Given the description of an element on the screen output the (x, y) to click on. 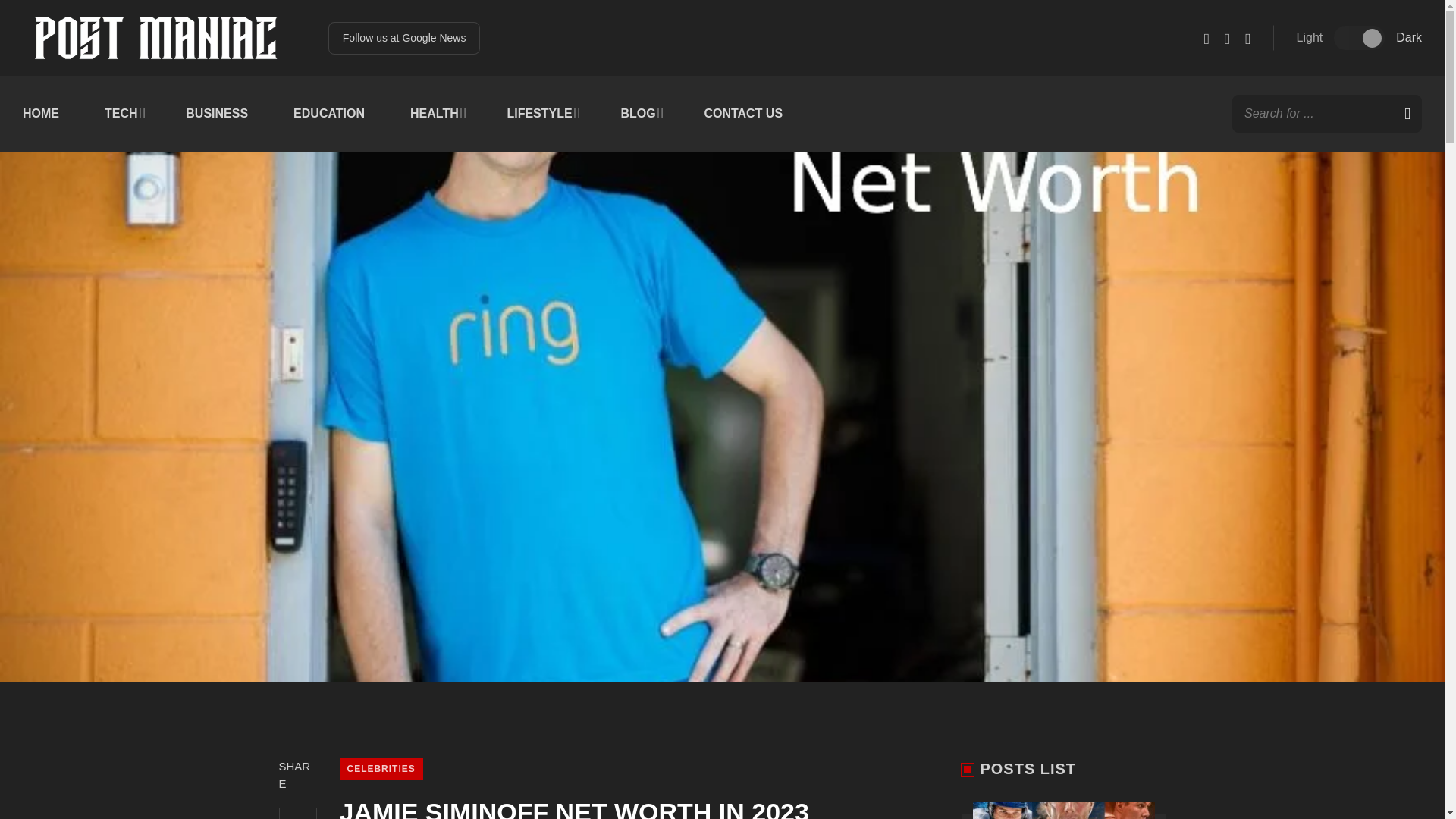
Follow us at Google News (404, 37)
LIFESTYLE (540, 113)
EDUCATION (329, 113)
CELEBRITIES (381, 768)
CONTACT US (743, 113)
Share on Facebook (298, 813)
